Given the description of an element on the screen output the (x, y) to click on. 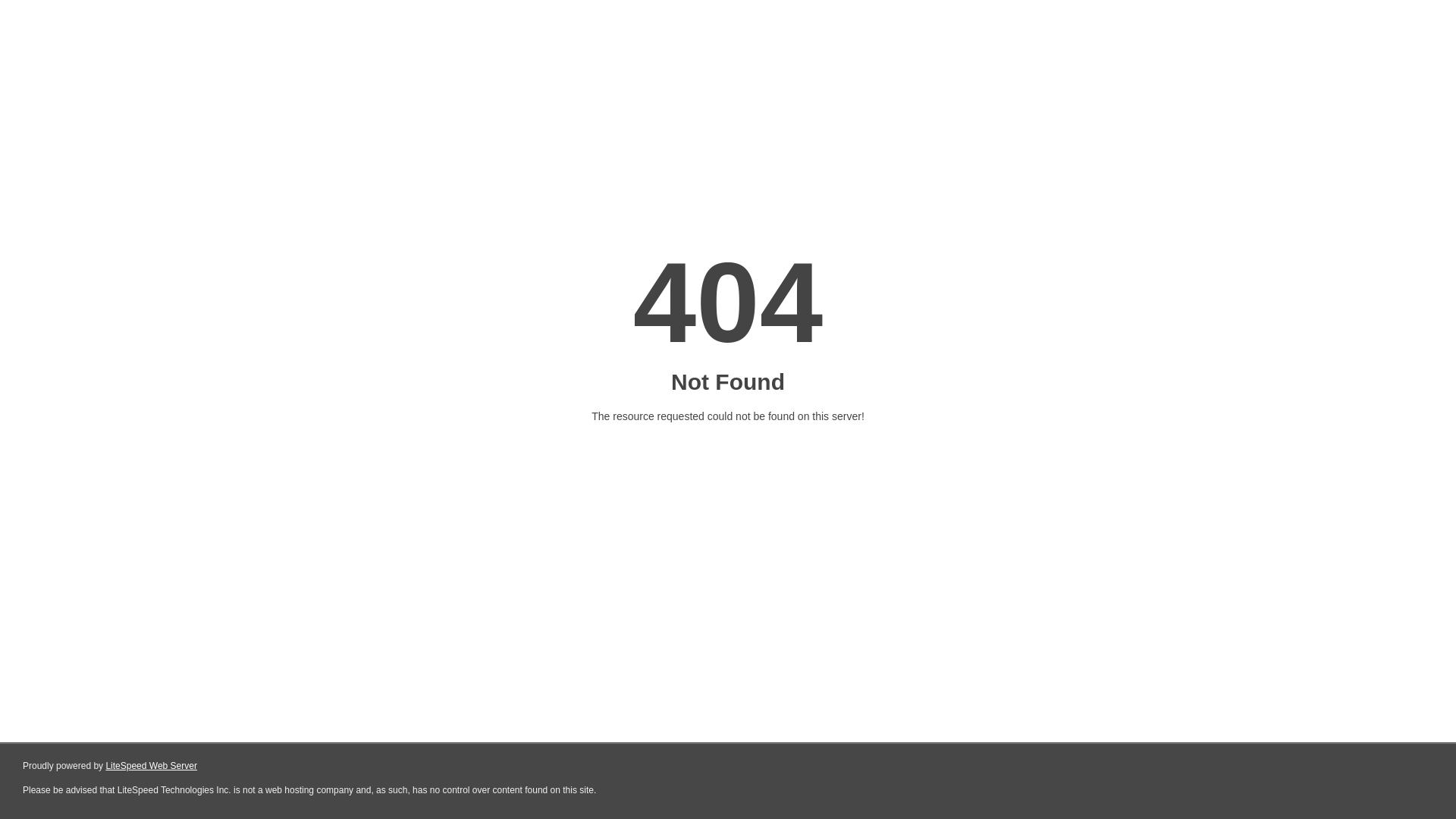
LiteSpeed Web Server Element type: text (151, 765)
